Given the description of an element on the screen output the (x, y) to click on. 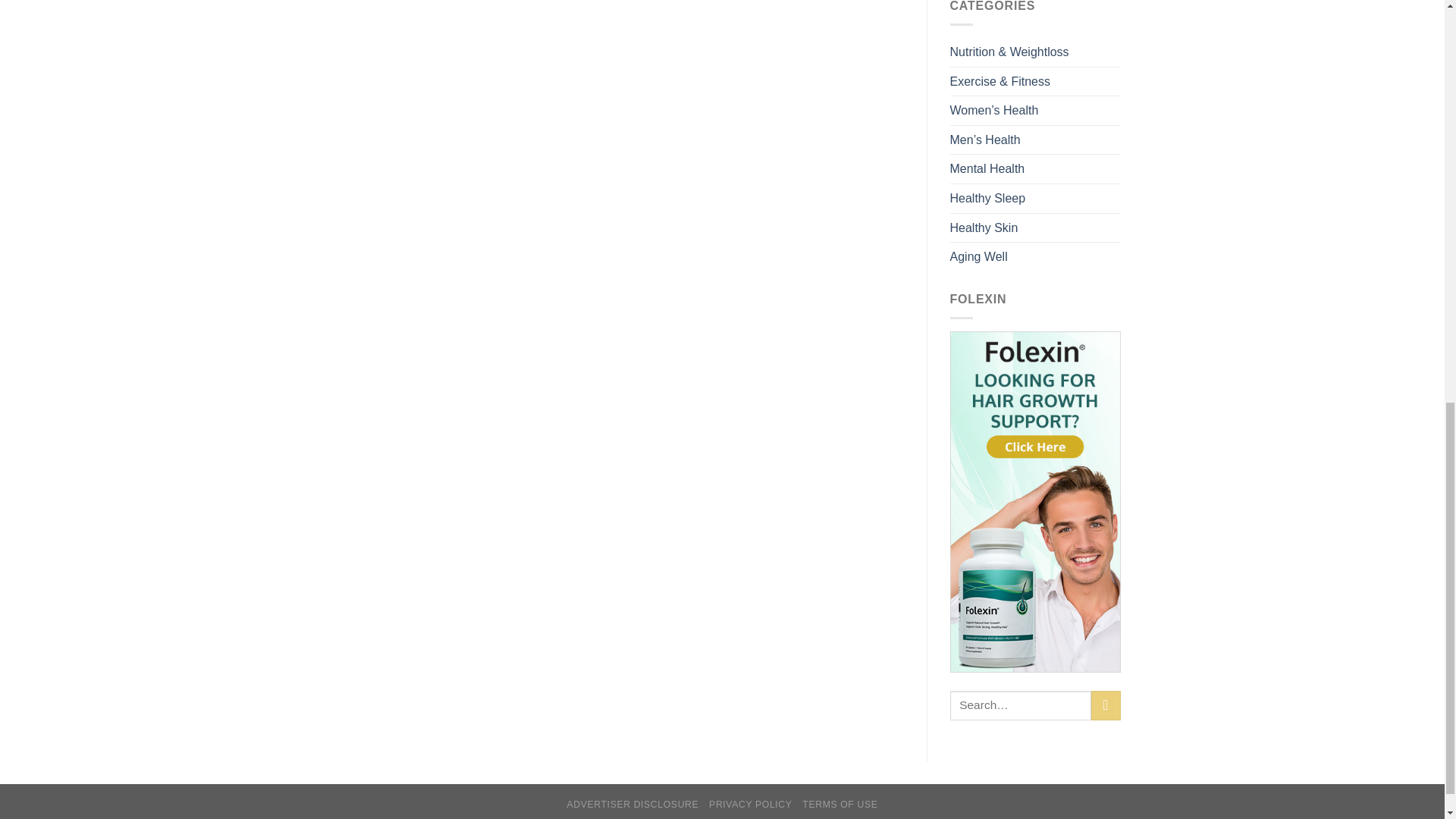
Healthy Skin (983, 227)
TERMS OF USE (839, 804)
Mental Health (987, 168)
PRIVACY POLICY (750, 804)
Healthy Sleep (987, 198)
Aging Well (978, 256)
ADVERTISER DISCLOSURE (632, 804)
